Given the description of an element on the screen output the (x, y) to click on. 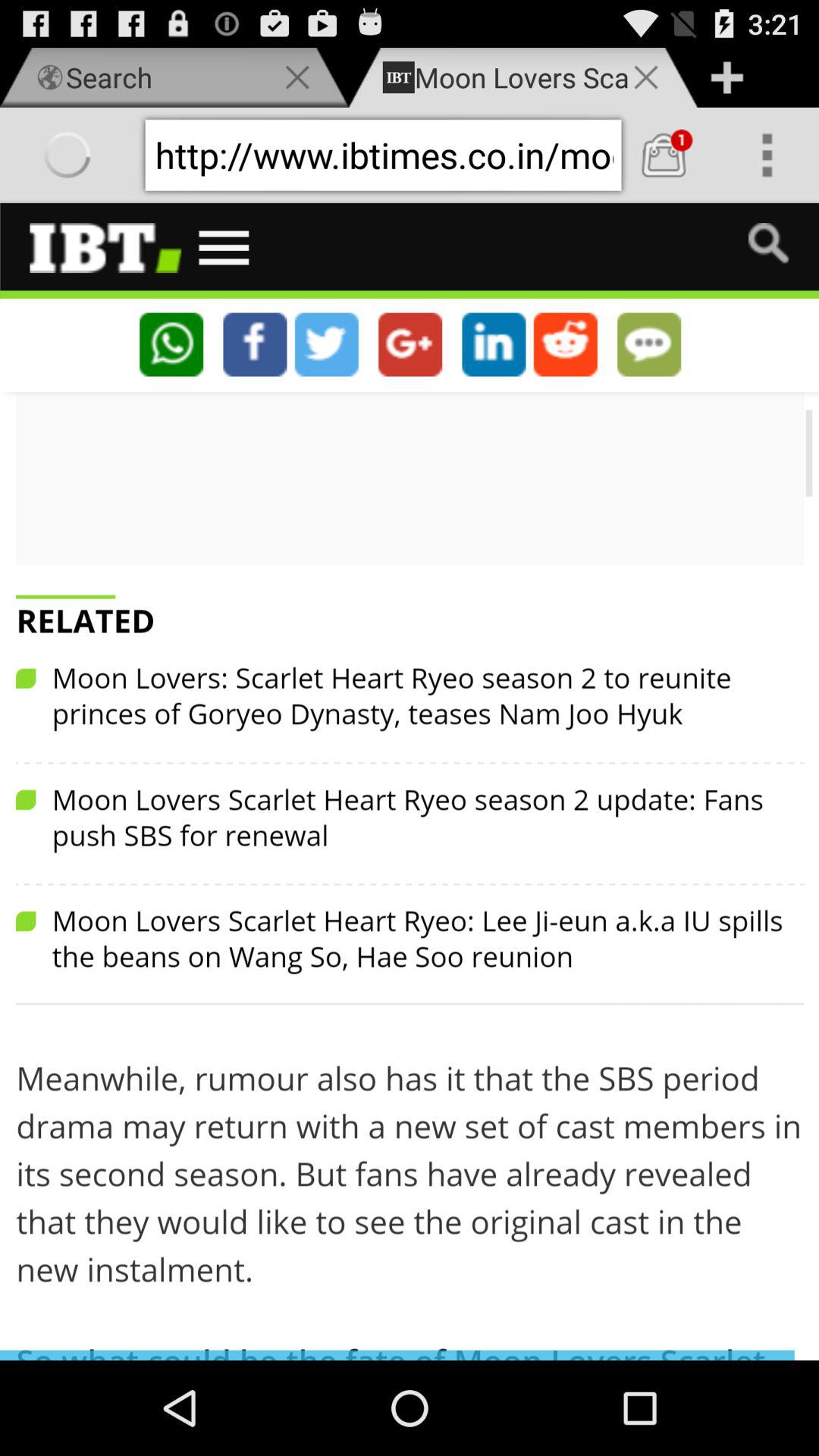
over view option (767, 155)
